Given the description of an element on the screen output the (x, y) to click on. 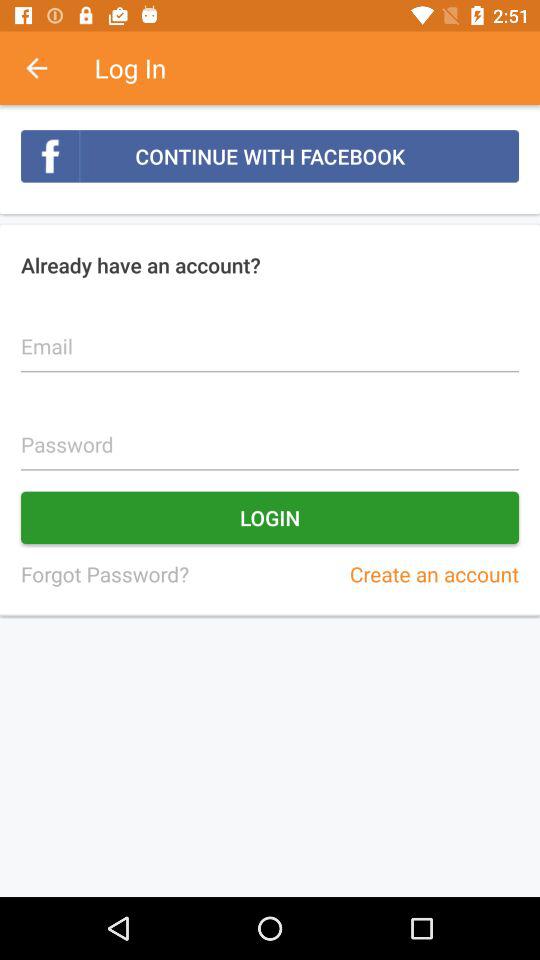
click item above the forgot password? icon (270, 517)
